Given the description of an element on the screen output the (x, y) to click on. 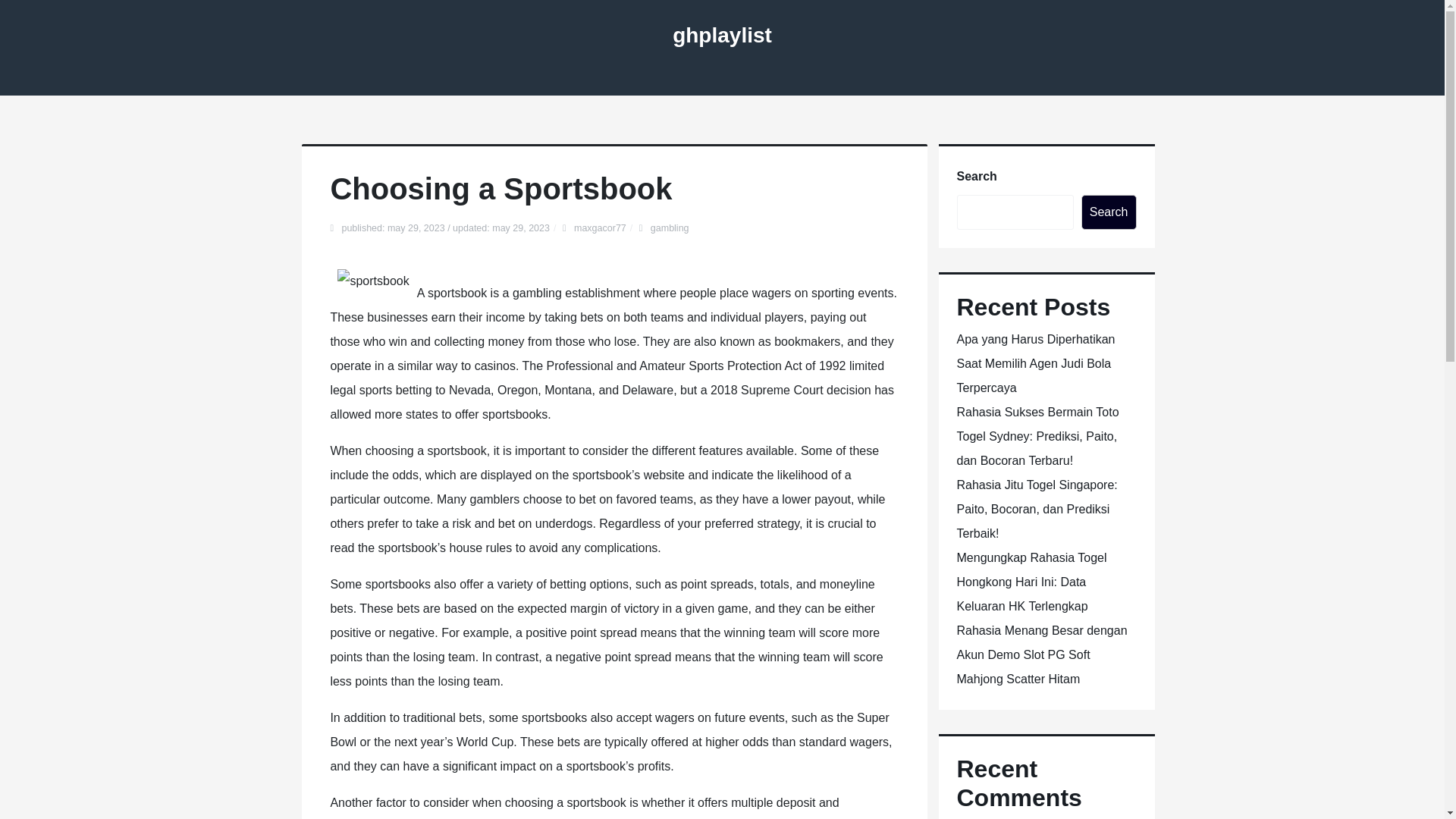
Search (1109, 212)
gambling (669, 227)
ghplaylist (721, 34)
maxgacor77 (599, 227)
